Given the description of an element on the screen output the (x, y) to click on. 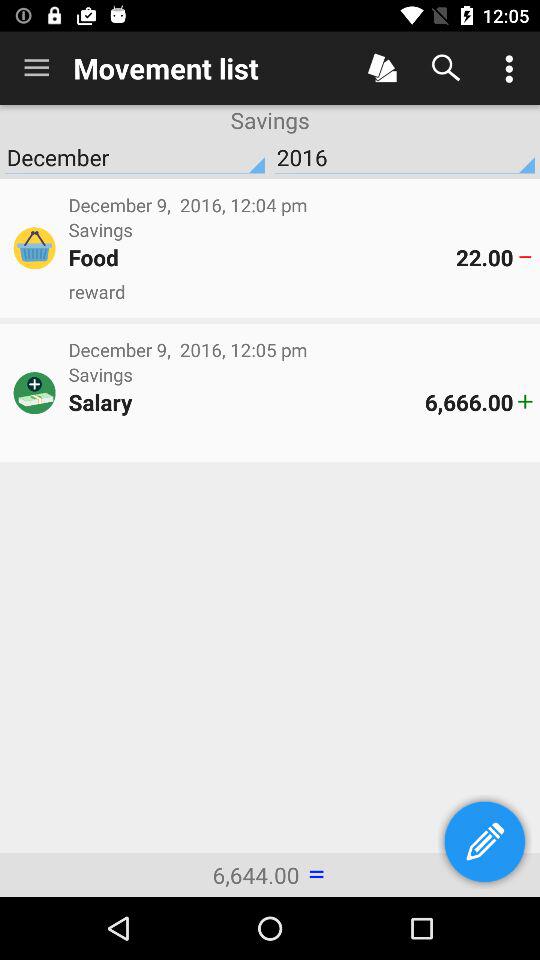
tap the icon below salary (300, 436)
